Given the description of an element on the screen output the (x, y) to click on. 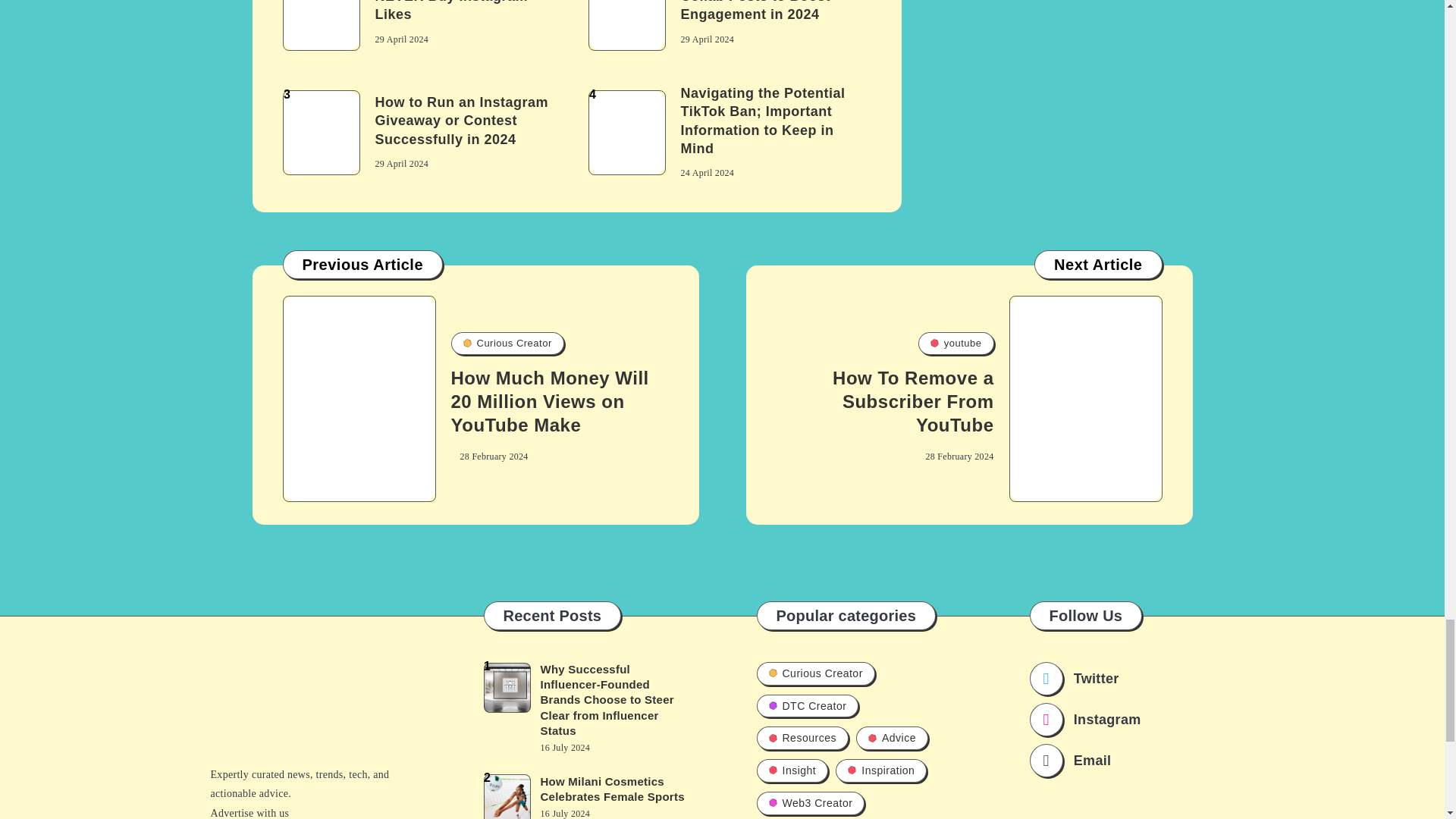
1 (320, 25)
2 (626, 25)
